Given the description of an element on the screen output the (x, y) to click on. 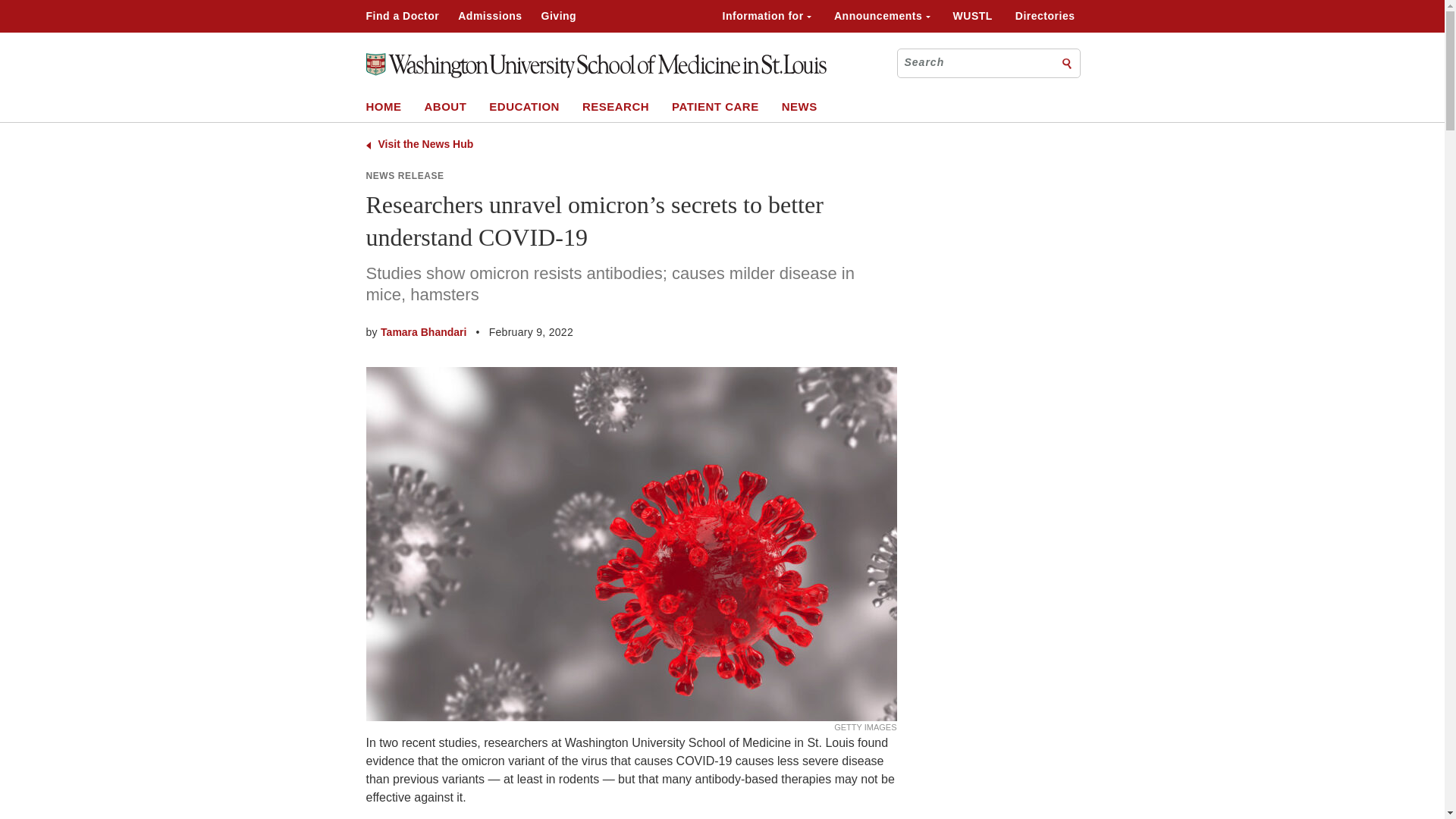
EDUCATION (524, 106)
ABOUT (446, 106)
Admissions (489, 15)
PATIENT CARE (714, 106)
Information for   (766, 15)
Find a Doctor (402, 15)
HOME (383, 106)
RESEARCH (615, 106)
NEWS (798, 106)
WUSTL (972, 15)
Directories (1044, 15)
Giving (558, 15)
Announcements   (882, 15)
